Given the description of an element on the screen output the (x, y) to click on. 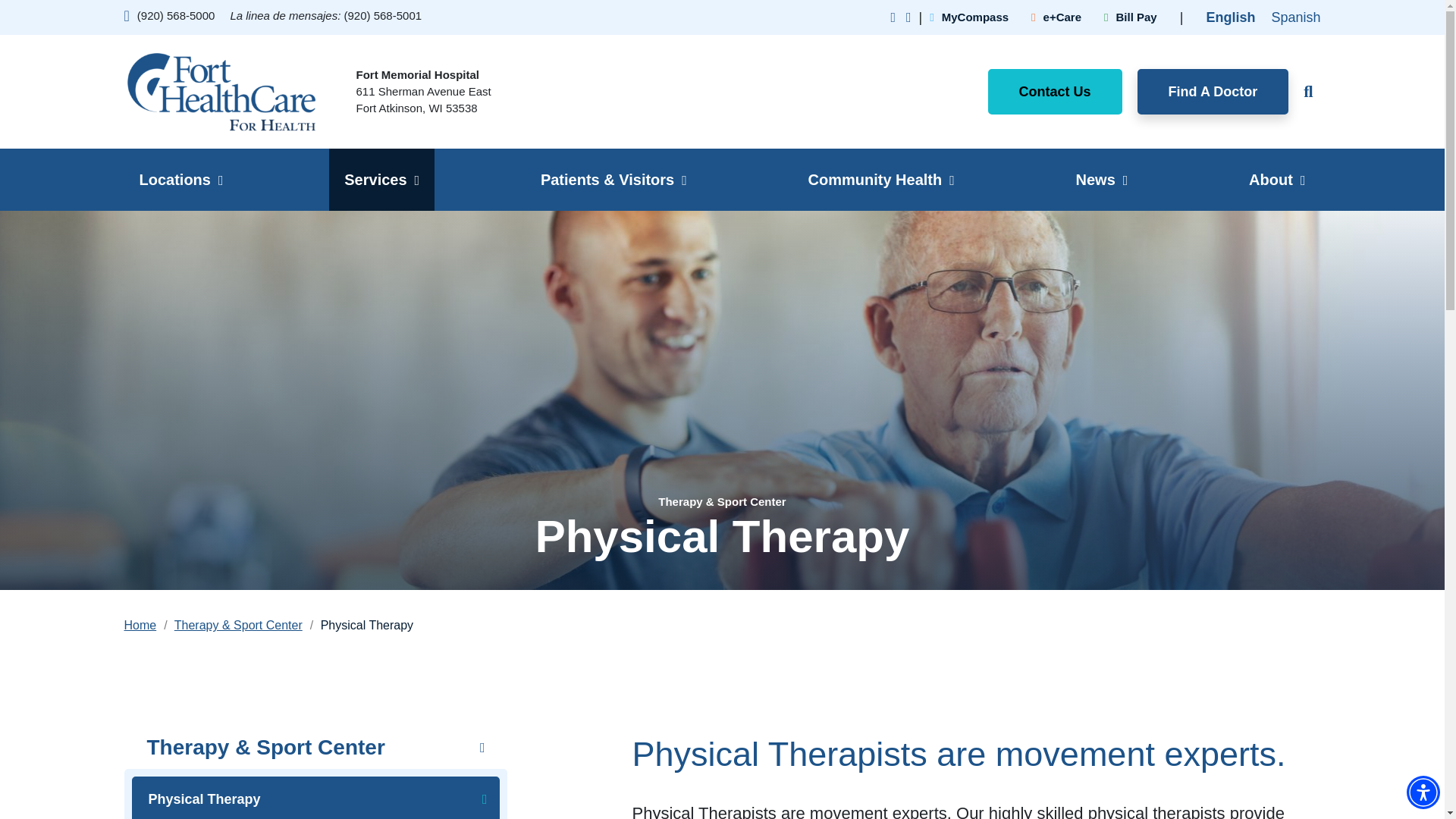
Contact Us (1055, 91)
MyCompass (969, 16)
Find A Doctor (1212, 91)
English (1229, 17)
Services (381, 179)
Locations (180, 179)
Spanish (1295, 17)
Accessibility Menu (1422, 792)
Bill Pay (1130, 16)
Open Global Search (1304, 91)
